Given the description of an element on the screen output the (x, y) to click on. 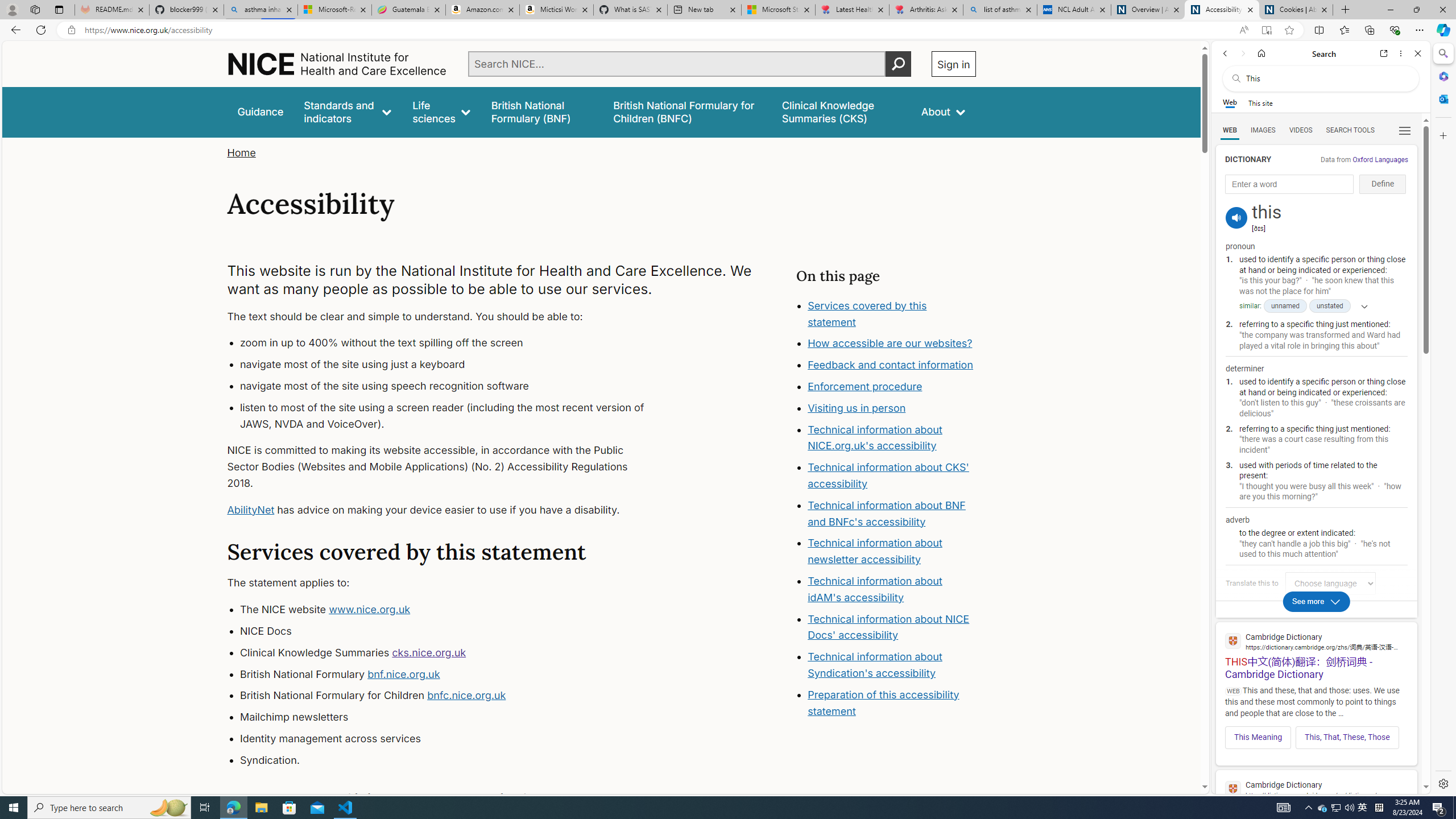
Accessibility | NICE (1221, 9)
Technical information about Syndication's accessibility (875, 664)
Preparation of this accessibility statement (883, 702)
navigate most of the site using just a keyboard (452, 364)
Identity management across services (452, 738)
pronounce (1236, 217)
Technical information about NICE.org.uk's accessibility (875, 437)
